Given the description of an element on the screen output the (x, y) to click on. 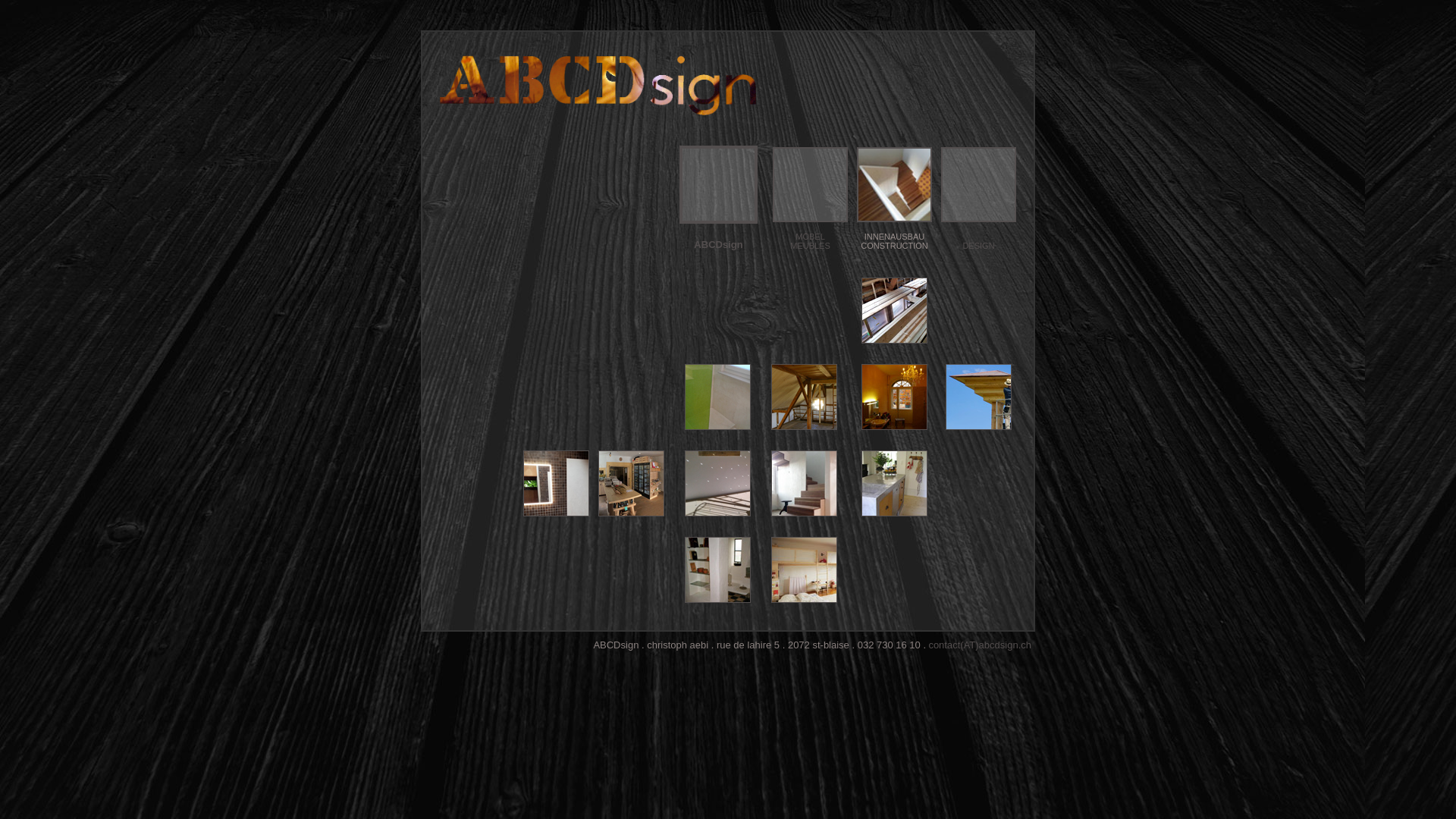
contact(AT)abcdsign.ch Element type: text (979, 644)
DESIGN Element type: text (978, 245)
ABCDsign Element type: text (717, 244)
